Given the description of an element on the screen output the (x, y) to click on. 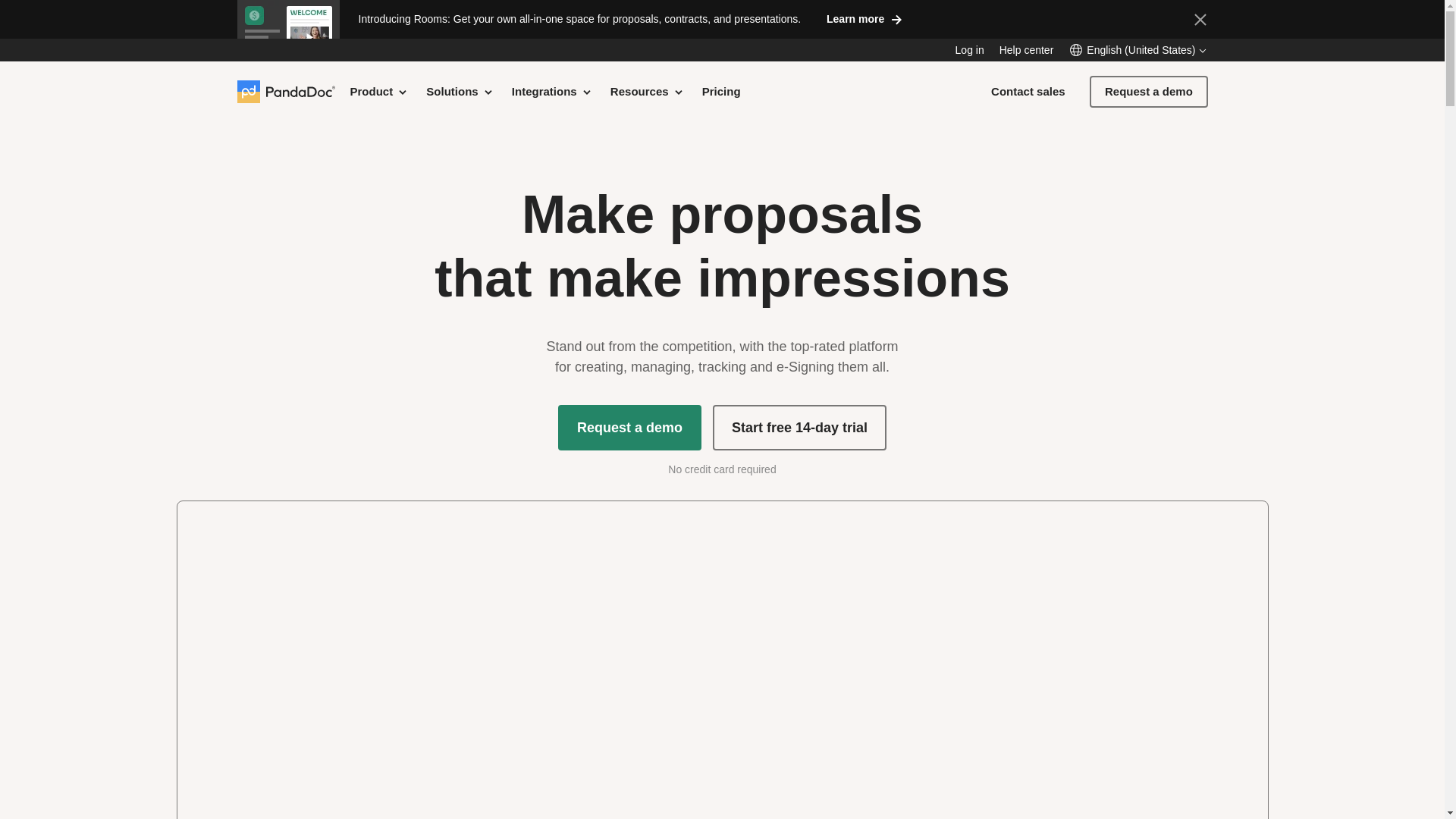
Learn more (864, 18)
Help center (1026, 50)
Product (379, 91)
Solutions (459, 91)
Log in (969, 50)
